Given the description of an element on the screen output the (x, y) to click on. 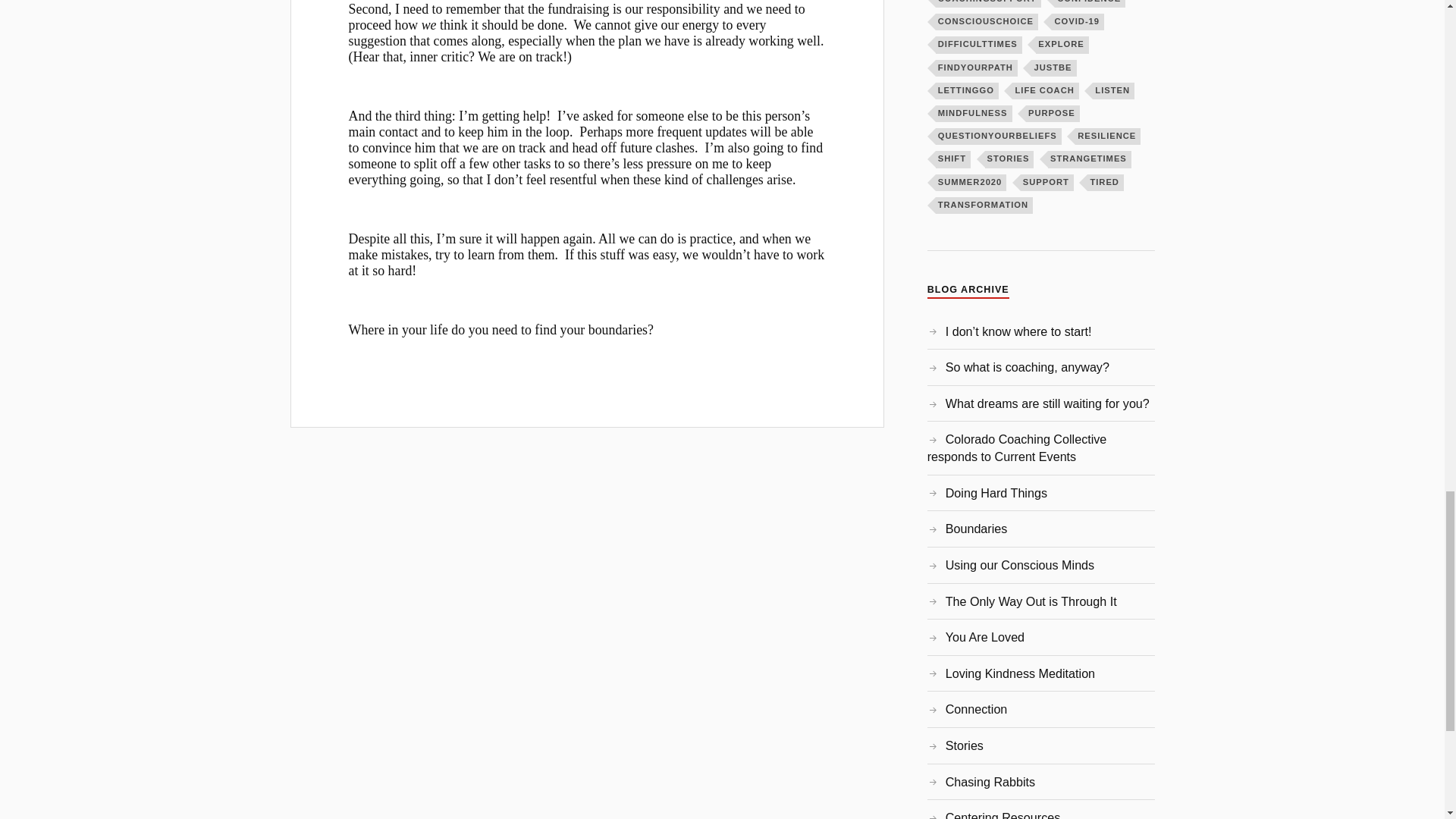
COACHINGSUPPORT (988, 3)
CONSCIOUSCHOICE (987, 21)
LETTINGGO (967, 90)
DIFFICULTTIMES (979, 44)
EXPLORE (1061, 44)
FINDYOURPATH (976, 67)
LIFE COACH (1044, 90)
JUSTBE (1052, 67)
COVID-19 (1077, 21)
CONFIDENCE (1089, 3)
